Given the description of an element on the screen output the (x, y) to click on. 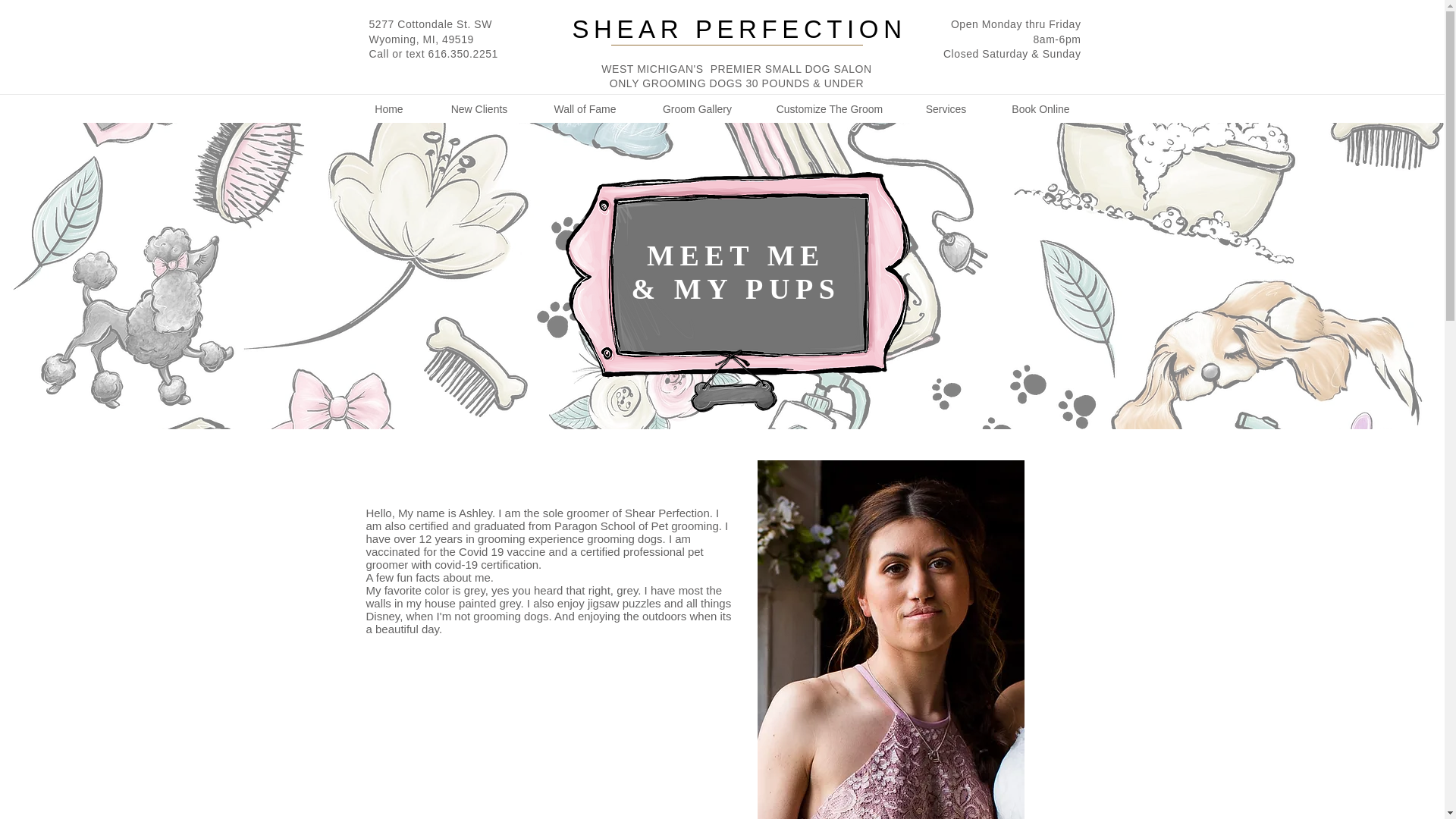
MEET ME (735, 255)
Groom Gallery (697, 108)
Wall of Fame (585, 108)
SHEAR PERFECTION (738, 29)
Book Online (1040, 108)
Home (388, 108)
Services (946, 108)
